Given the description of an element on the screen output the (x, y) to click on. 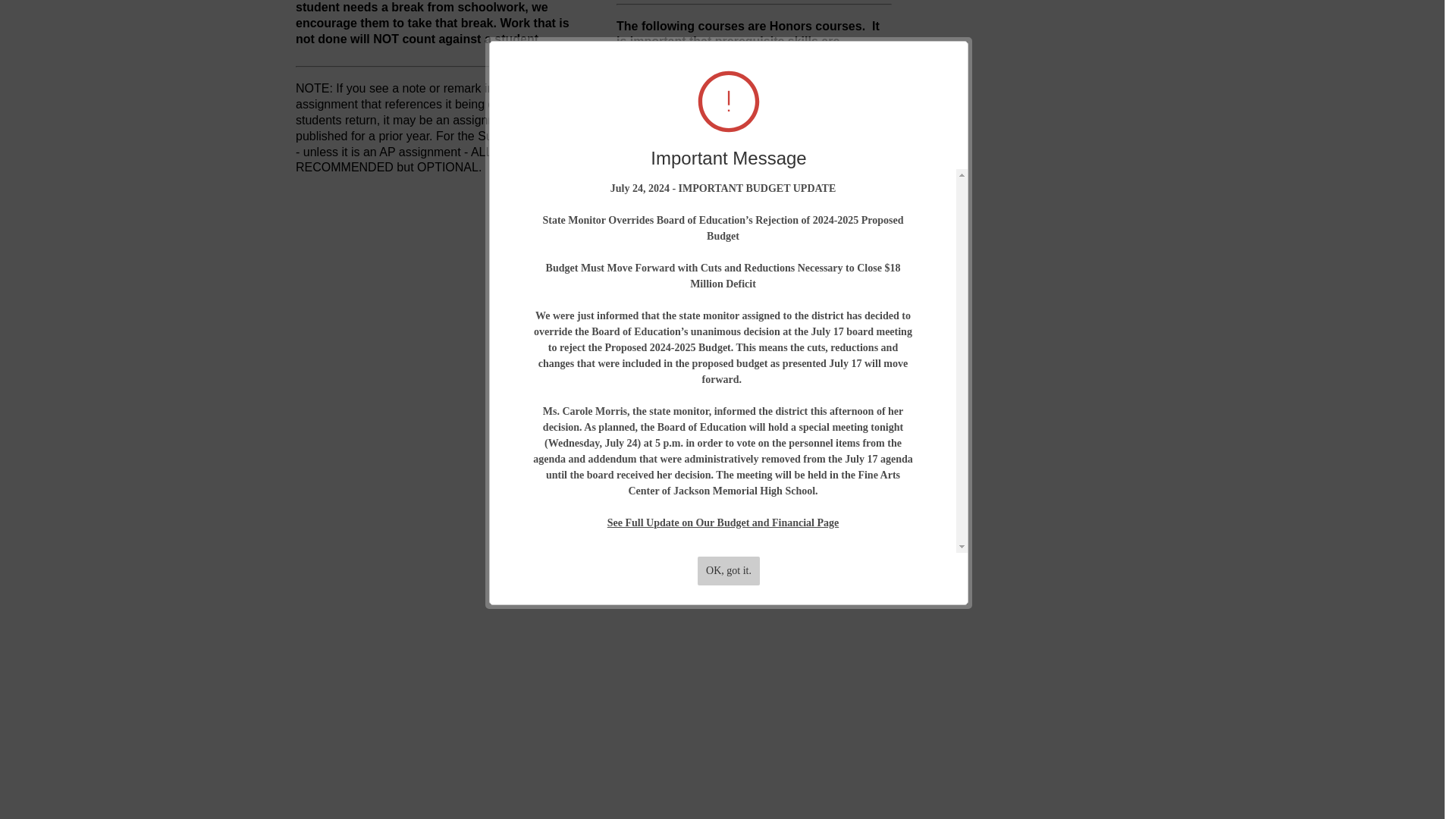
See Full Update on Our Budget and Financial Page (722, 166)
OK, got it. (728, 215)
